Given the description of an element on the screen output the (x, y) to click on. 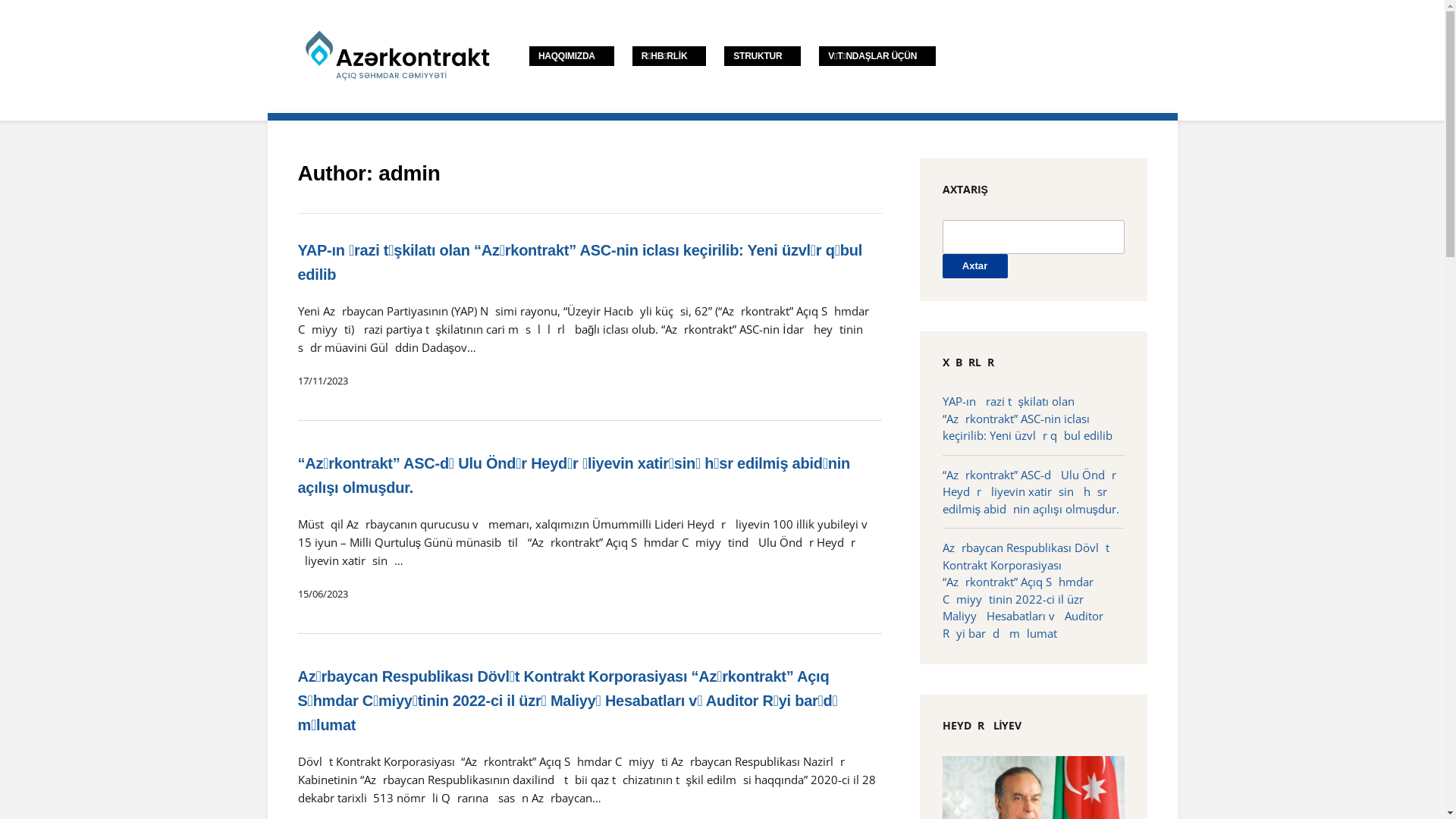
Axtar Element type: text (974, 266)
HAQQIMIZDA Element type: text (571, 55)
STRUKTUR Element type: text (762, 55)
